Given the description of an element on the screen output the (x, y) to click on. 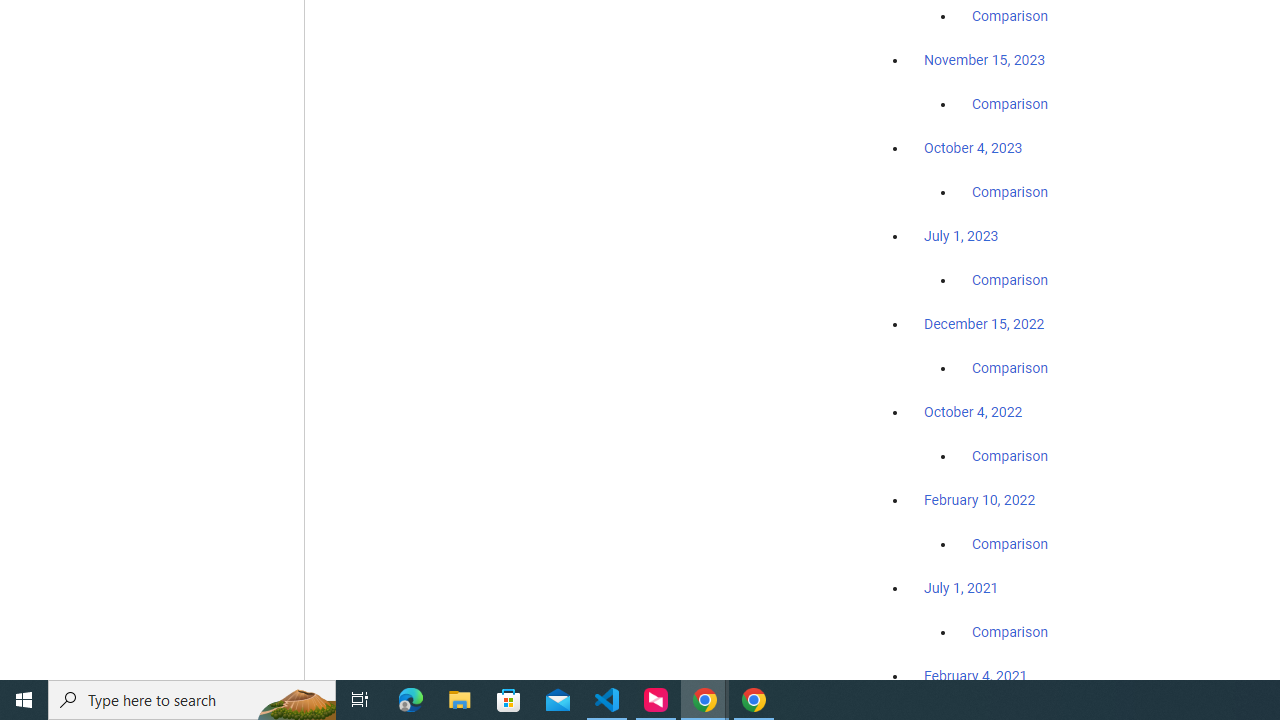
July 1, 2023 (961, 236)
Comparison (1009, 631)
February 10, 2022 (979, 500)
October 4, 2023 (973, 148)
October 4, 2022 (973, 412)
December 15, 2022 (984, 323)
July 1, 2021 (961, 587)
November 15, 2023 (984, 60)
February 4, 2021 (975, 675)
